Given the description of an element on the screen output the (x, y) to click on. 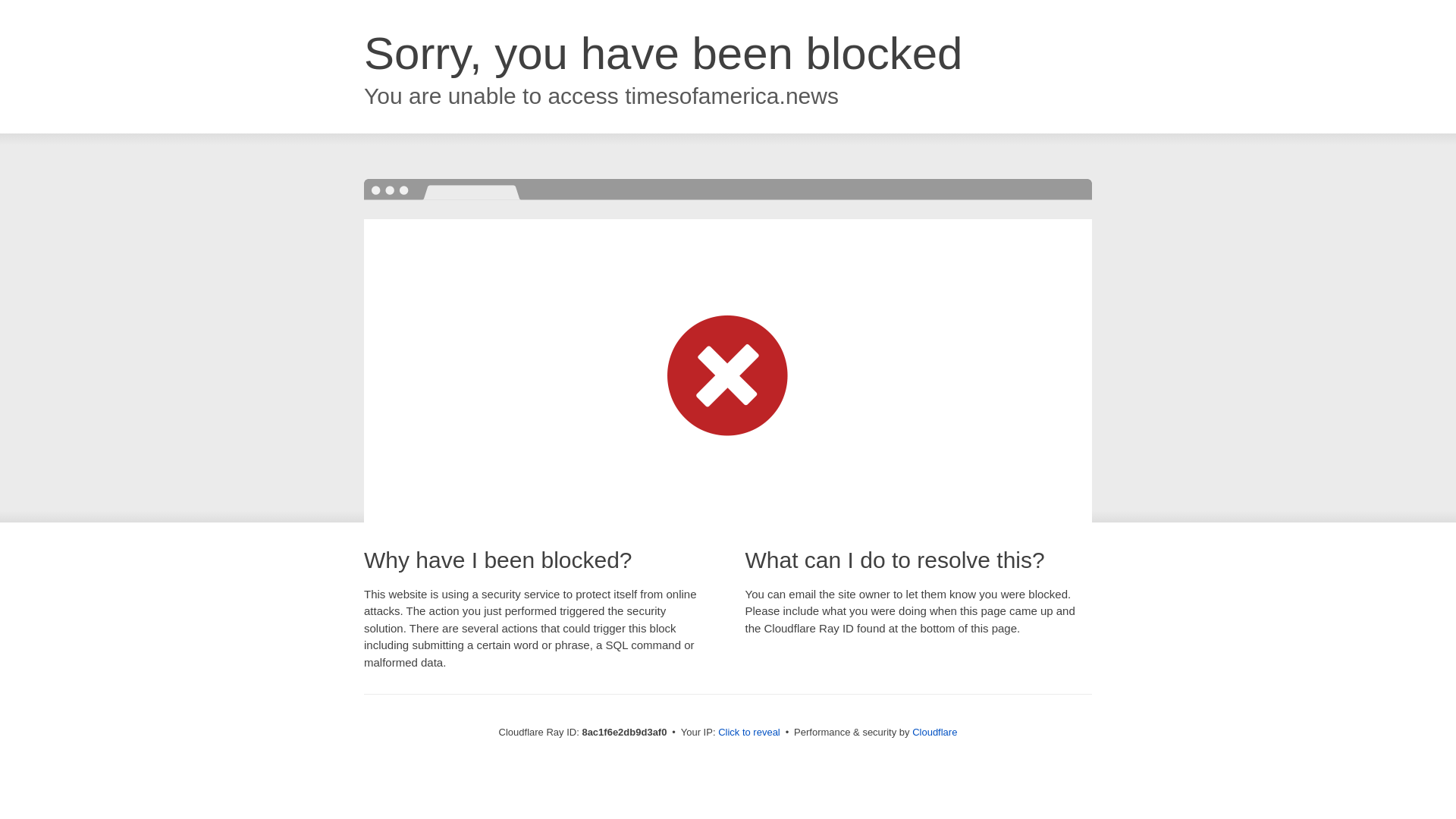
Cloudflare (934, 731)
Click to reveal (748, 732)
